Given the description of an element on the screen output the (x, y) to click on. 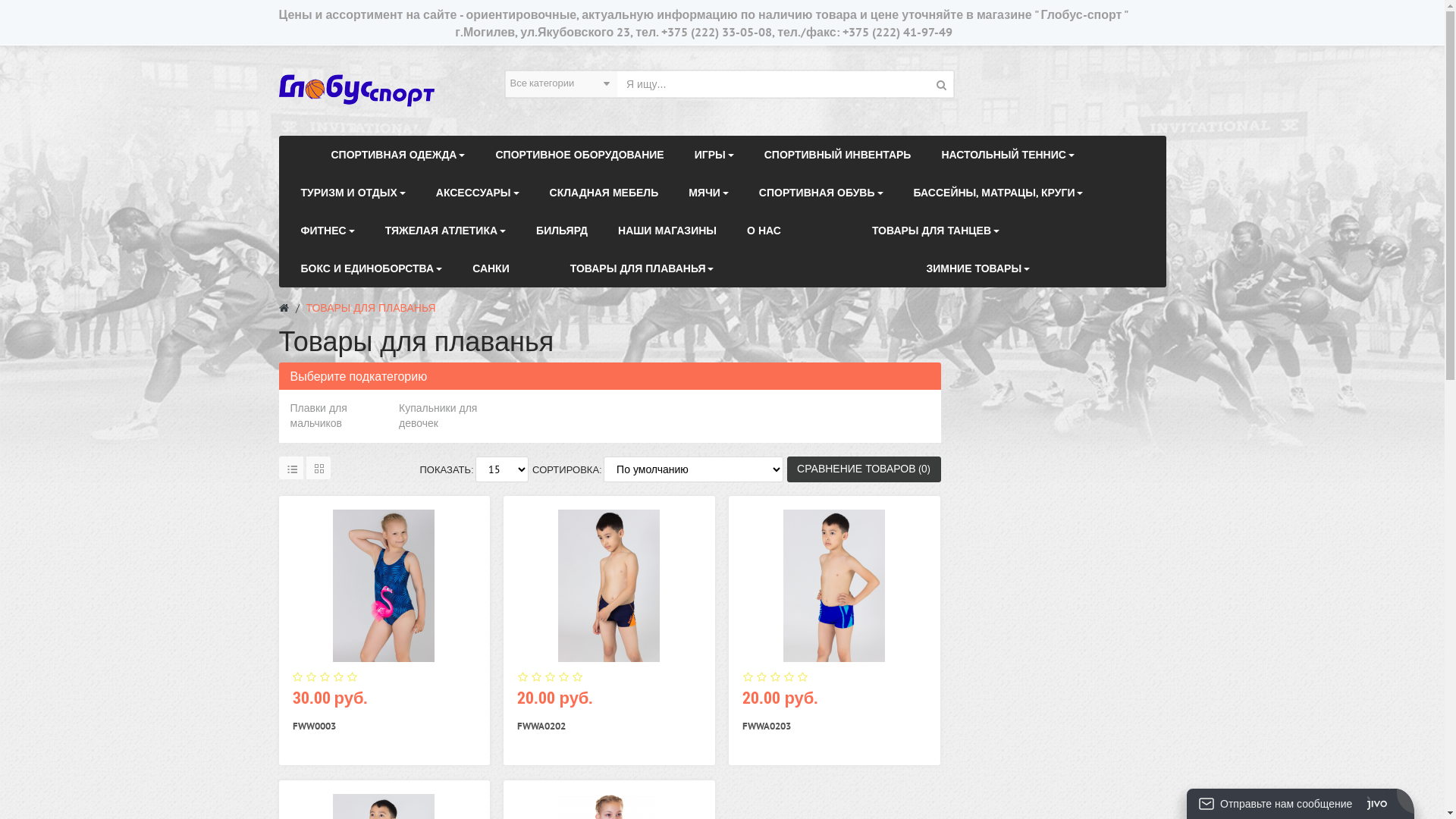
FWW0003 Element type: text (313, 726)
FWWA0203 Element type: text (766, 726)
FWWA0202 Element type: text (541, 726)
